Given the description of an element on the screen output the (x, y) to click on. 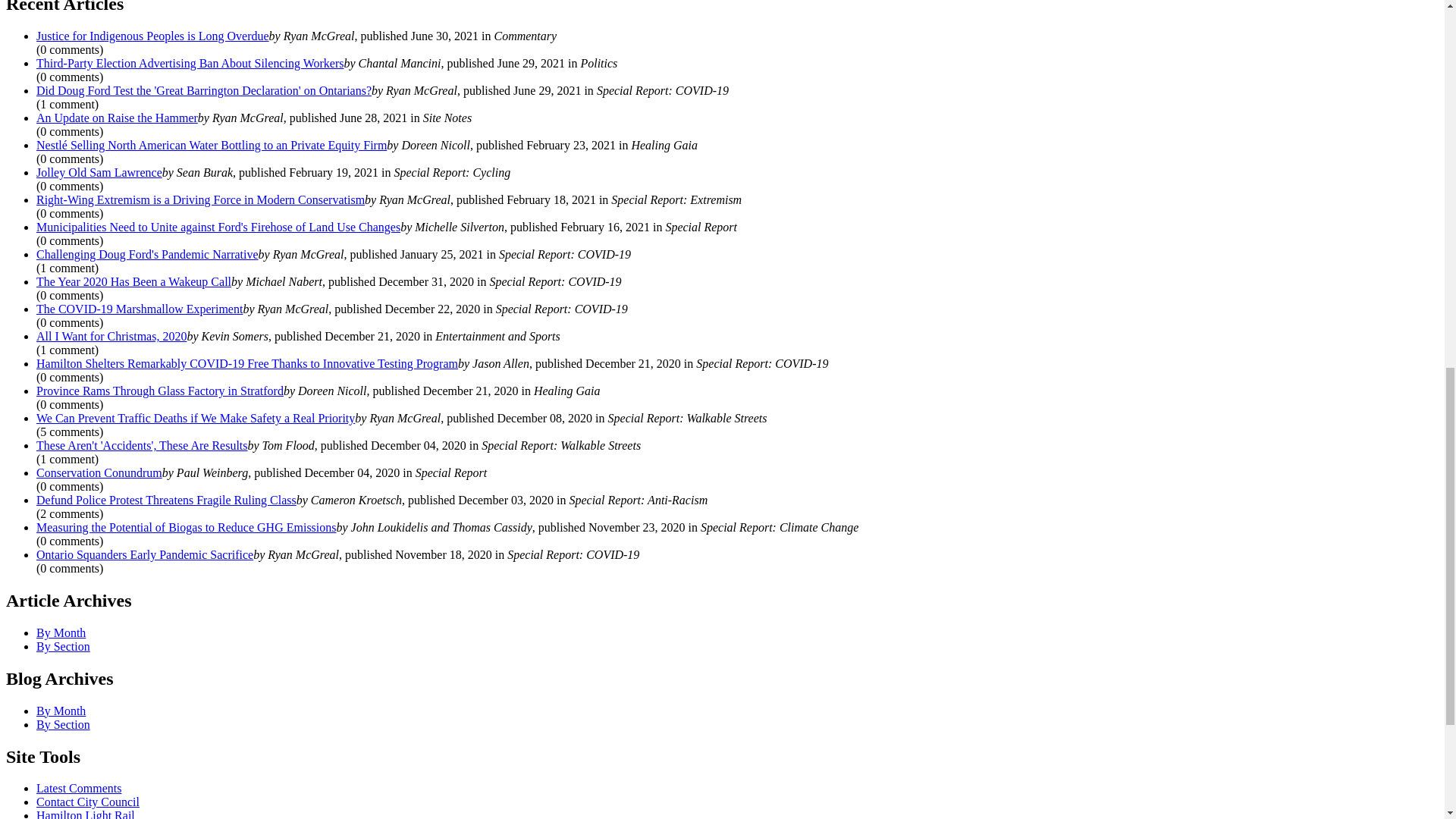
Province Rams Through Glass Factory in Stratford (159, 390)
All I Want for Christmas, 2020 (111, 336)
Jolley Old Sam Lawrence (98, 172)
The COVID-19 Marshmallow Experiment (139, 308)
The Year 2020 Has Been a Wakeup Call (133, 281)
Justice for Indigenous Peoples is Long Overdue (152, 35)
Third-Party Election Advertising Ban About Silencing Workers (189, 62)
Challenging Doug Ford's Pandemic Narrative (147, 254)
An Update on Raise the Hammer (117, 117)
